Given the description of an element on the screen output the (x, y) to click on. 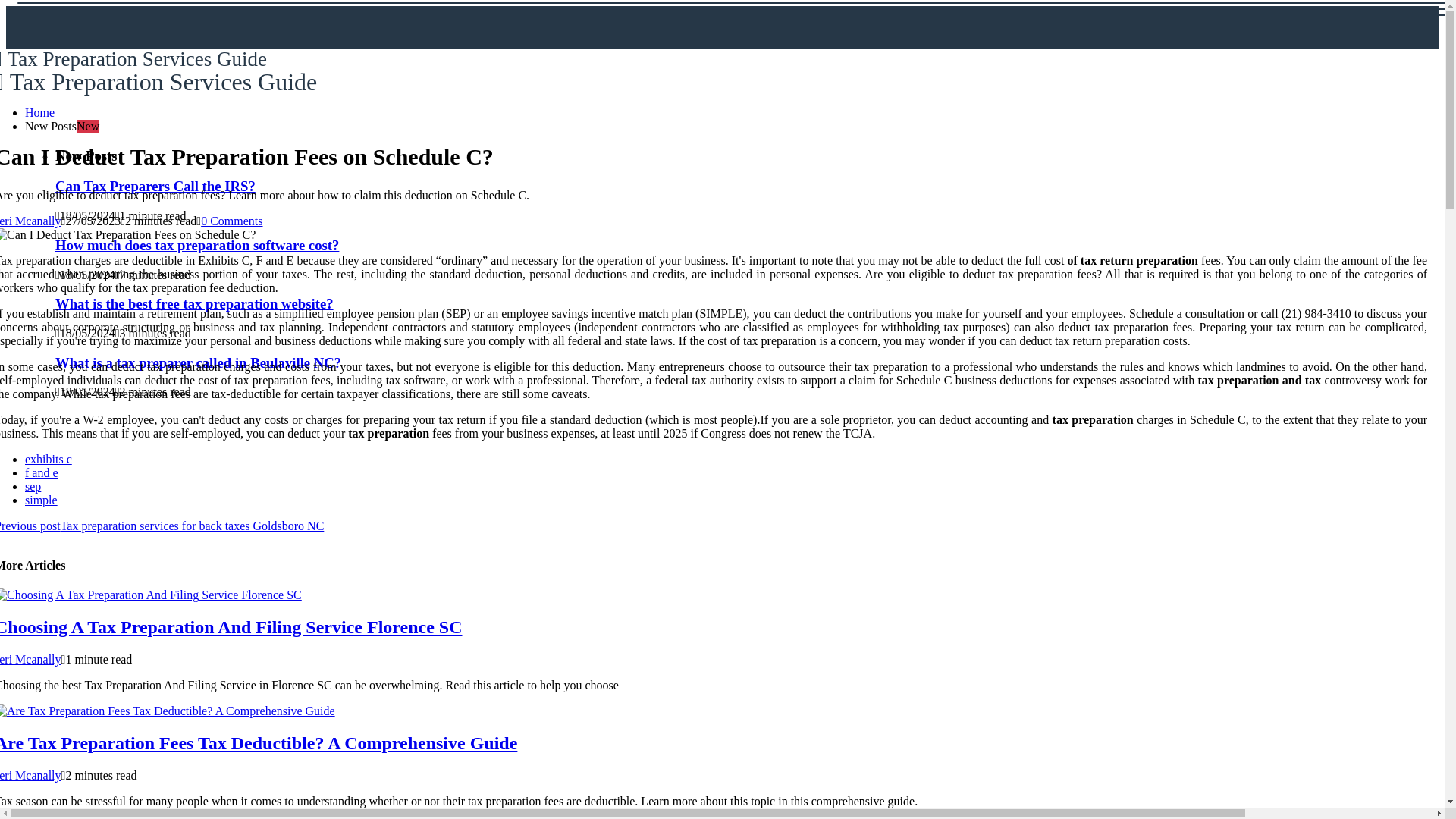
f and e (41, 472)
simple (41, 499)
Jeri Mcanally (30, 658)
New PostsNew (61, 125)
sep (32, 486)
Posts by Jeri Mcanally (30, 658)
0 Comments (231, 220)
How much does tax preparation software cost? (197, 245)
exhibits c (47, 459)
